Given the description of an element on the screen output the (x, y) to click on. 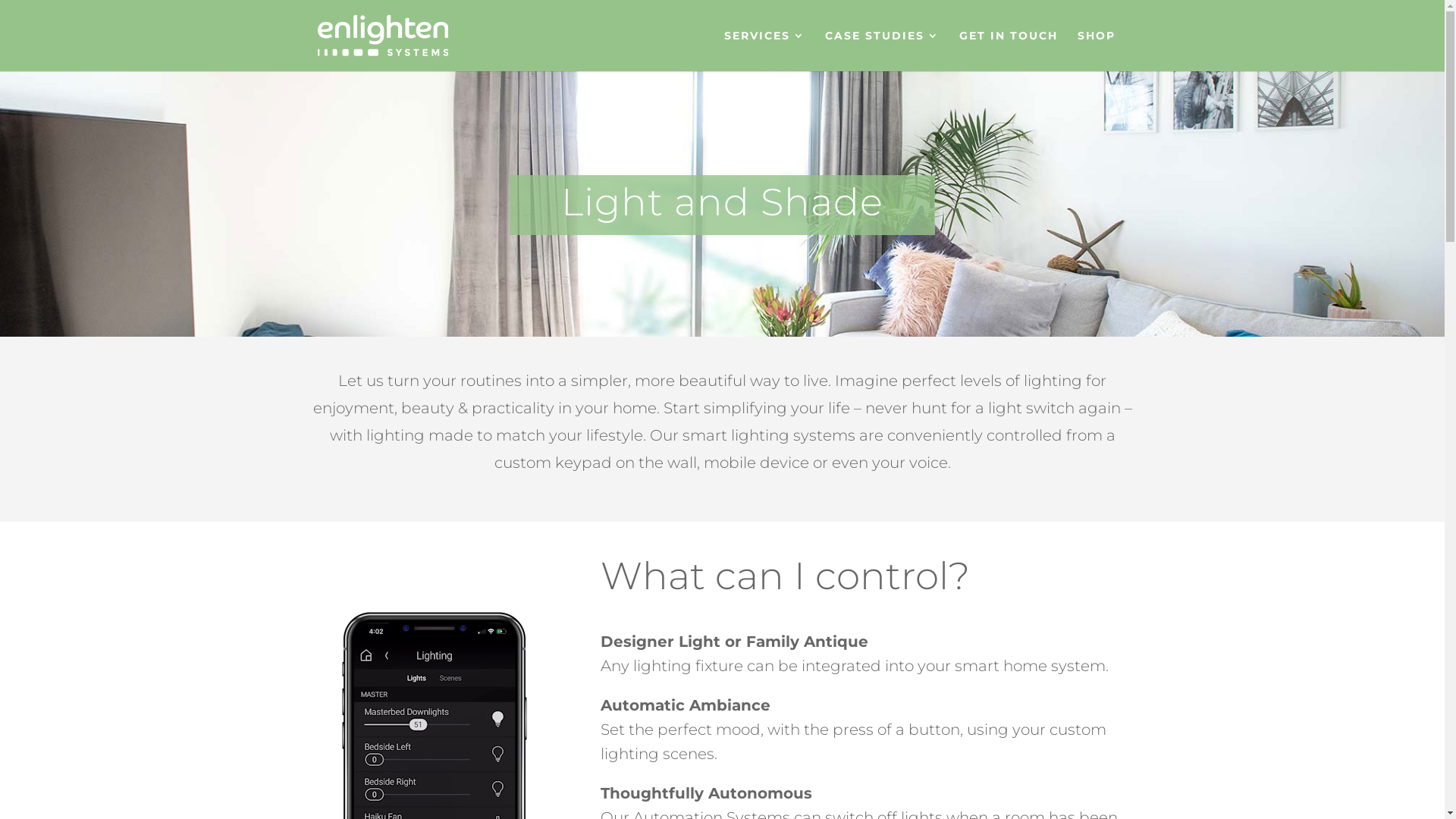
CASE STUDIES Element type: text (882, 50)
GET IN TOUCH Element type: text (1007, 50)
SERVICES Element type: text (763, 50)
SHOP Element type: text (1095, 50)
